Given the description of an element on the screen output the (x, y) to click on. 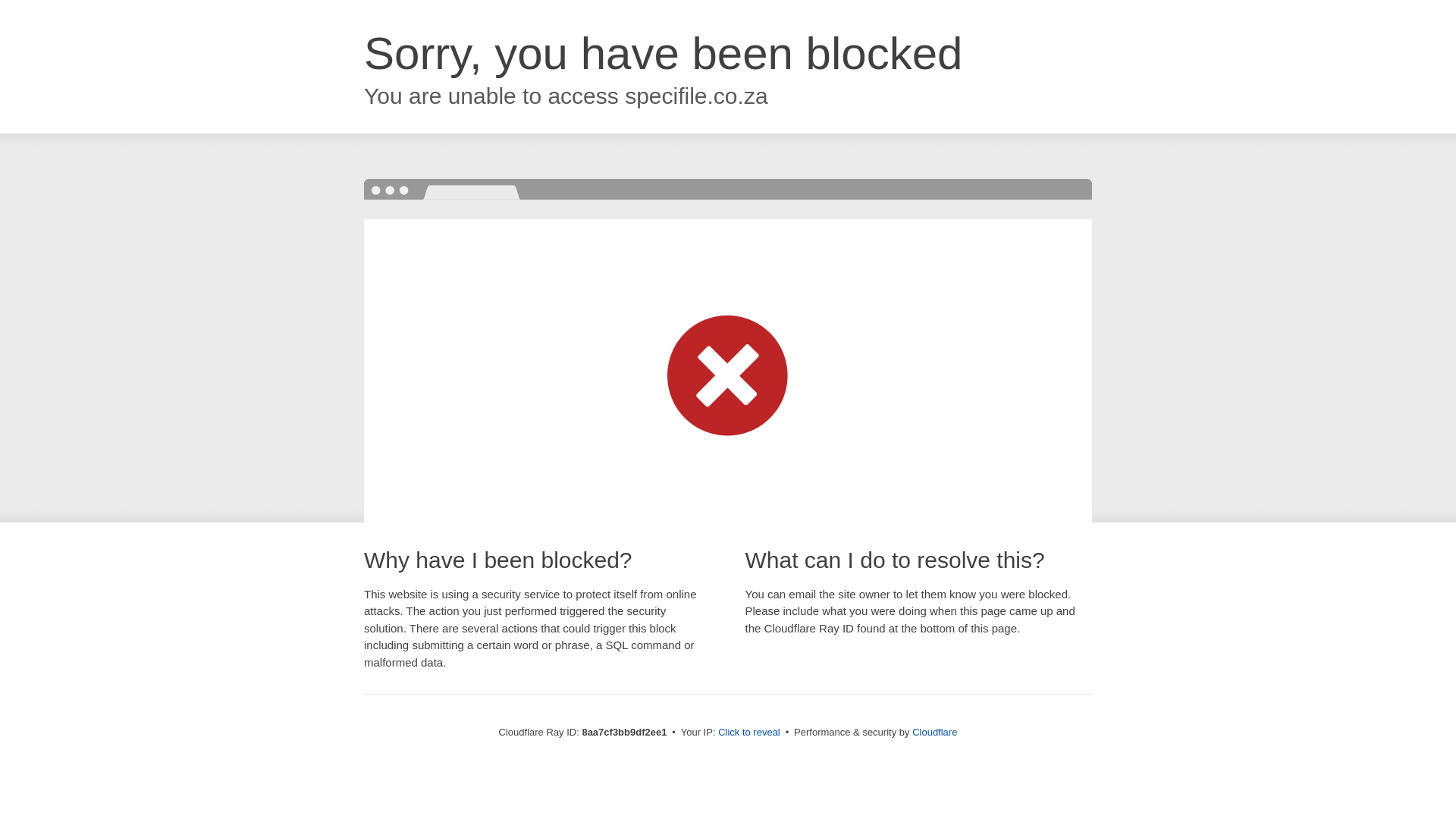
Click to reveal (748, 732)
Cloudflare (934, 731)
